Given the description of an element on the screen output the (x, y) to click on. 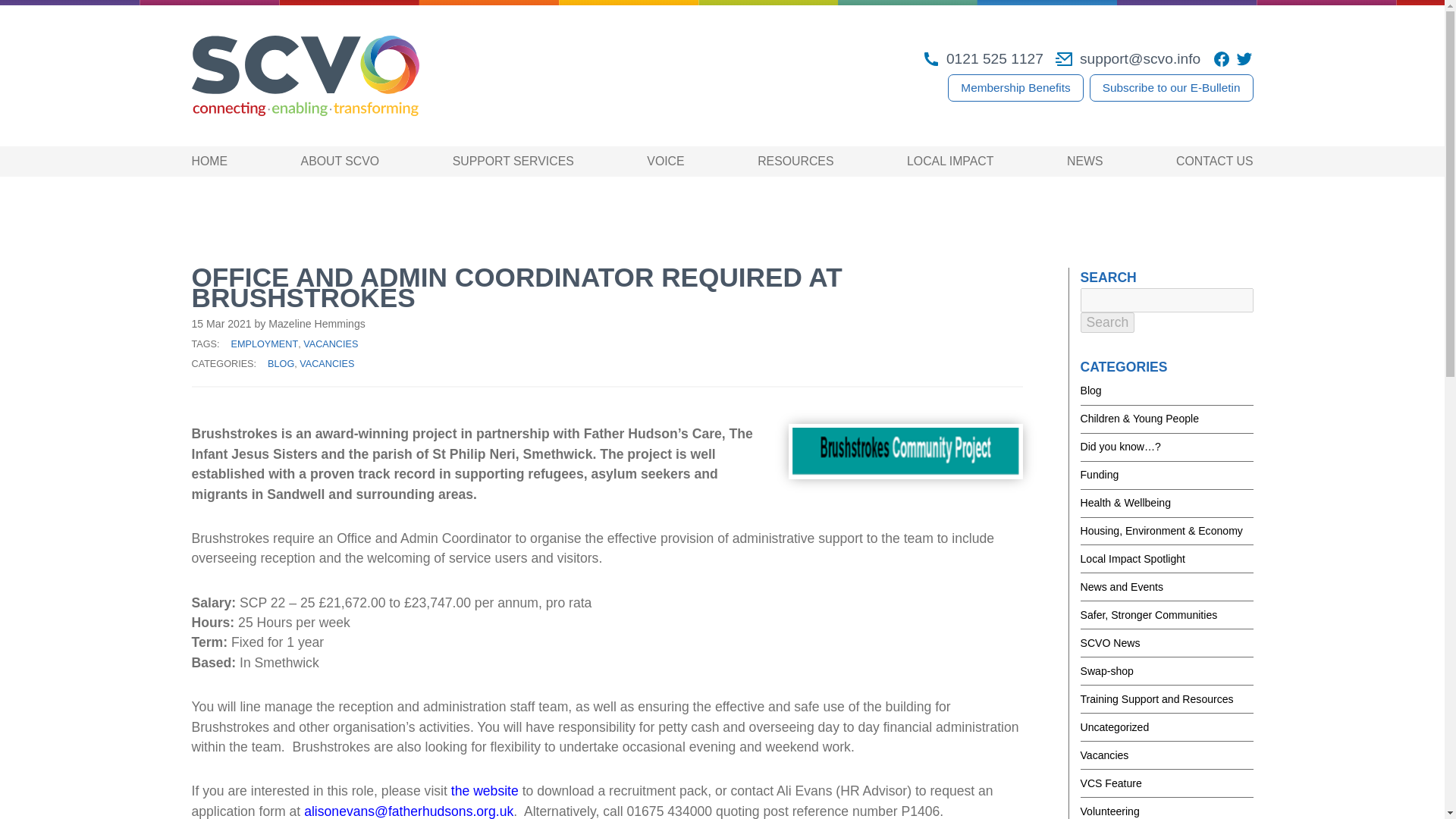
0121 525 1127 (982, 58)
RESOURCES (794, 160)
VOICE (665, 160)
ABOUT SCVO (340, 160)
Membership Benefits (1015, 87)
